Given the description of an element on the screen output the (x, y) to click on. 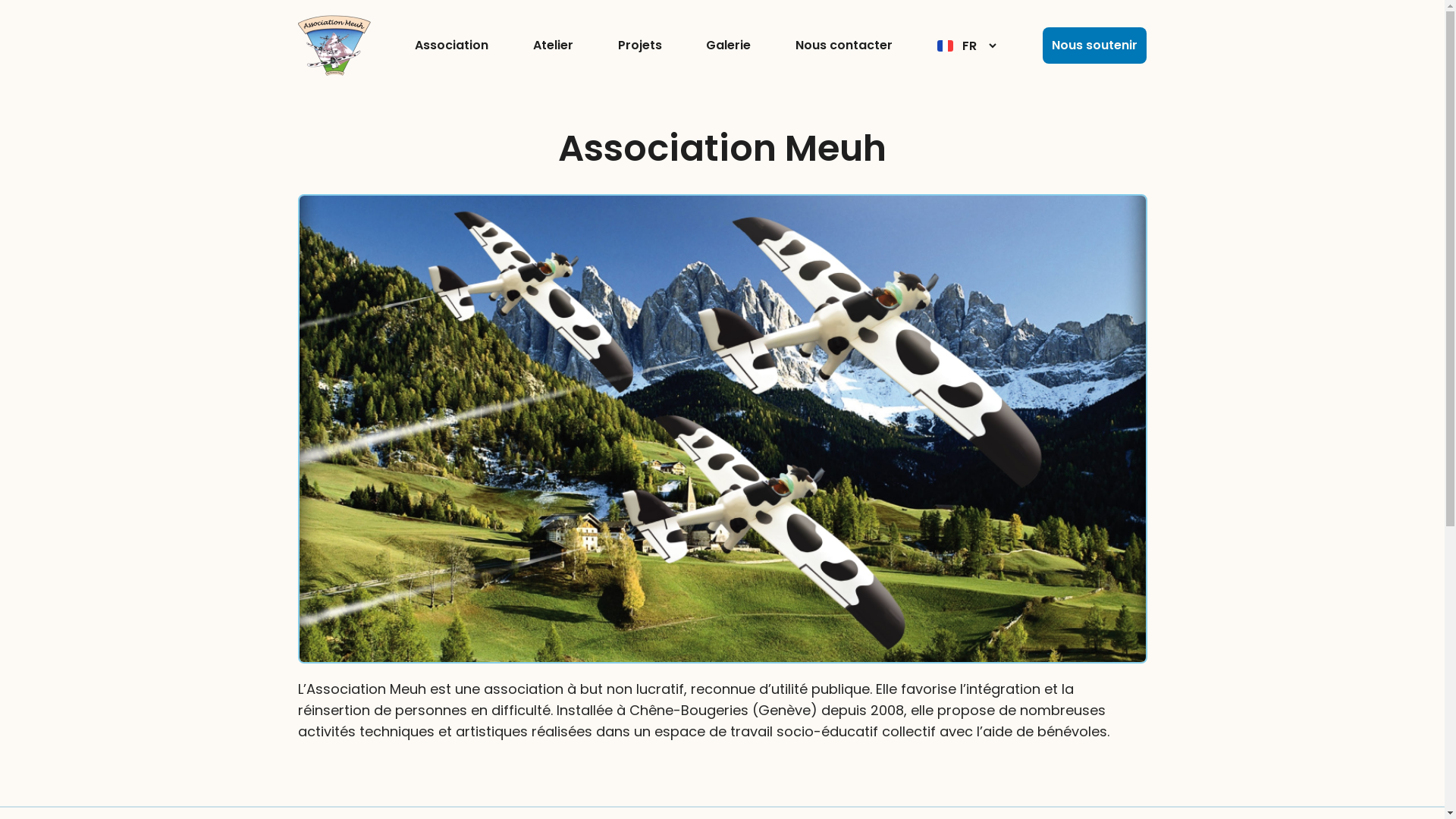
Projets Element type: text (640, 45)
Association Element type: text (451, 45)
Nous contacter Element type: text (843, 45)
Atelier Element type: text (553, 45)
Galerie Element type: text (728, 45)
Nous soutenir Element type: text (1094, 45)
